Given the description of an element on the screen output the (x, y) to click on. 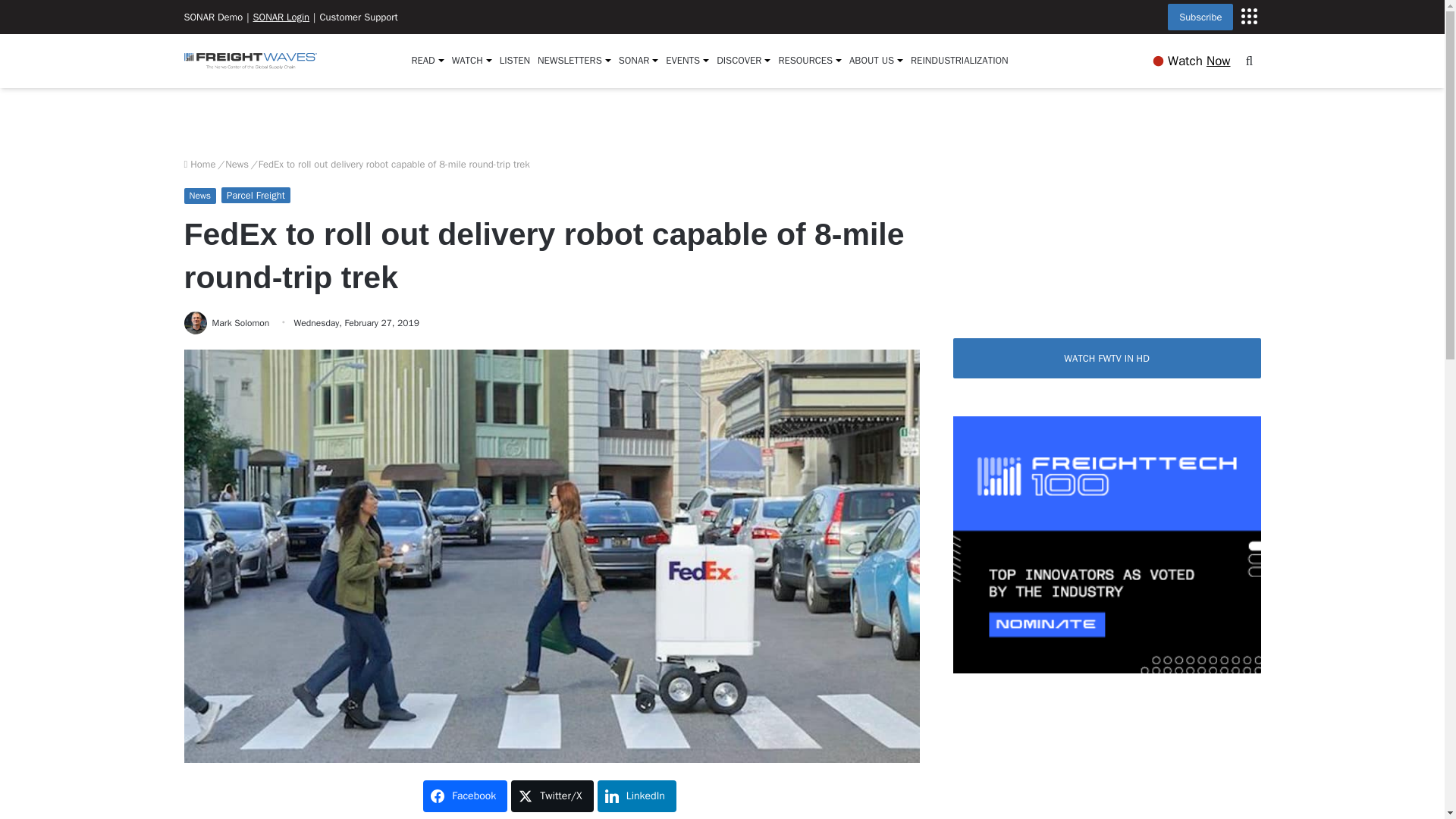
SONAR Demo (213, 16)
Subscribe (1200, 17)
FreightWaves (249, 61)
 Subscribe (1248, 15)
Customer Support (357, 16)
SONAR Login (281, 16)
Share on Facebook (464, 796)
Share on LinkedIn (636, 796)
